Given the description of an element on the screen output the (x, y) to click on. 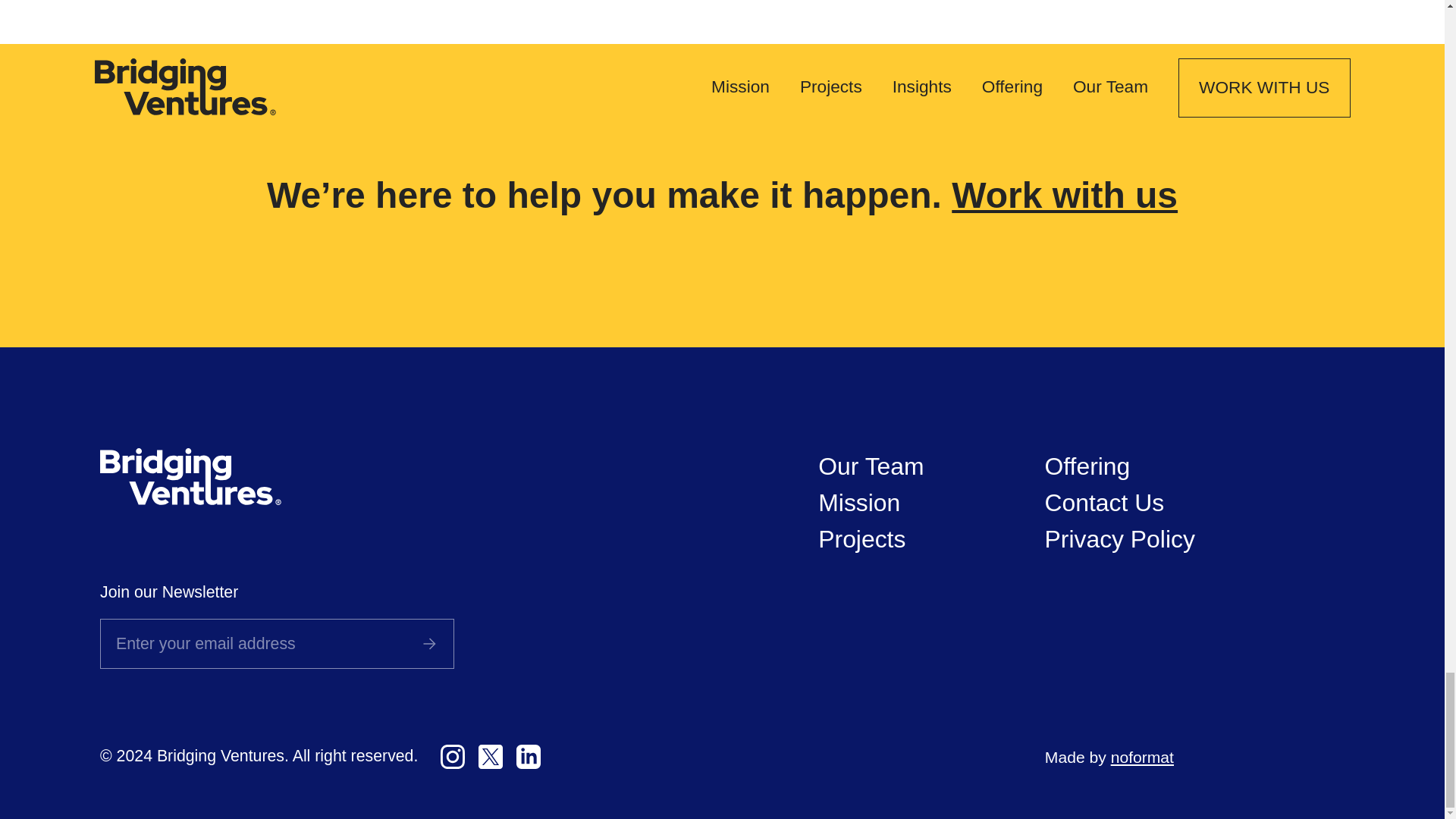
Contact Us (1104, 502)
Projects (861, 538)
Offering (1088, 465)
Privacy Policy (1120, 538)
noformat (1141, 756)
Mission (858, 502)
Work with us (1064, 195)
Our Team (870, 465)
